Given the description of an element on the screen output the (x, y) to click on. 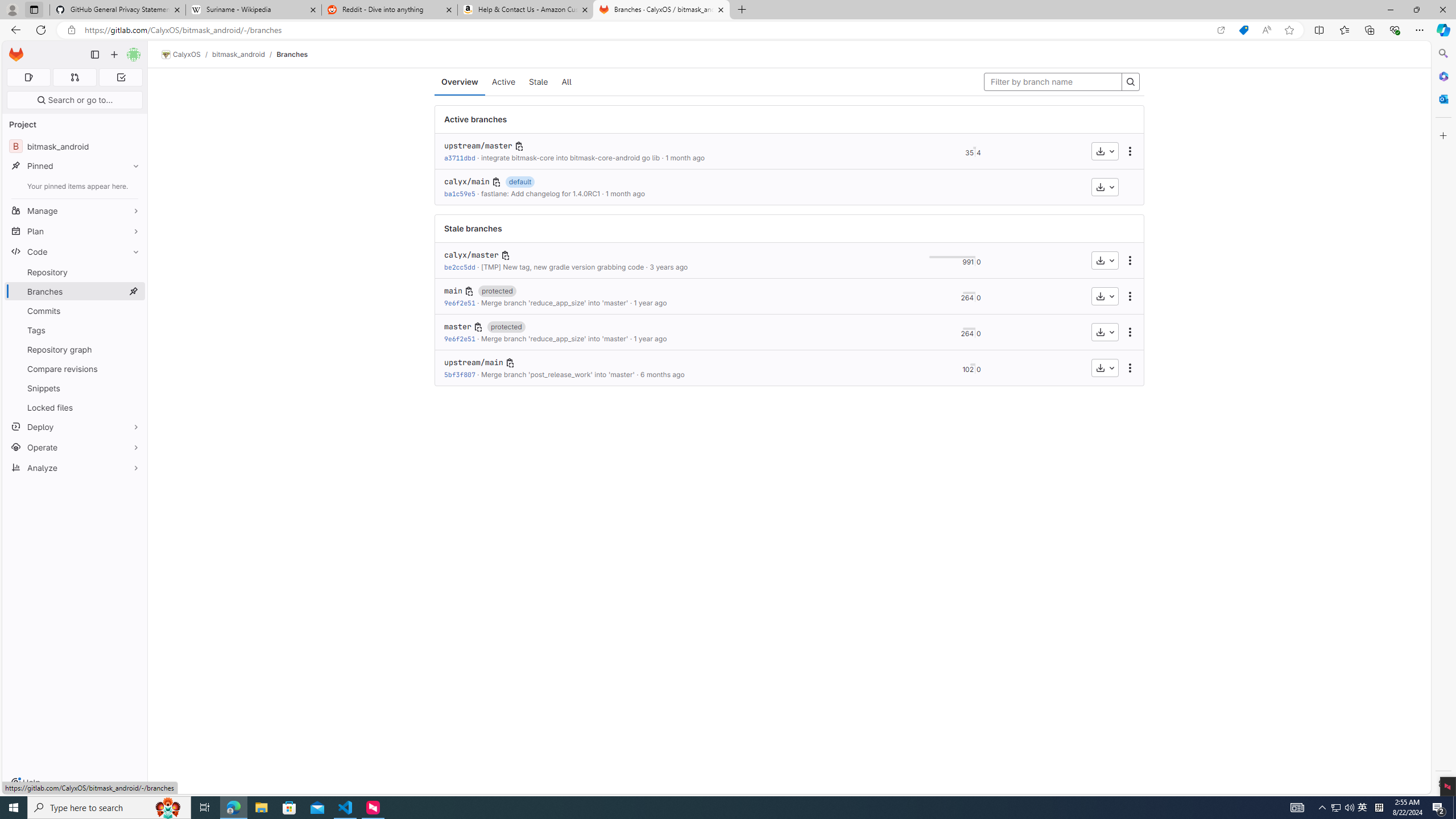
Manage (74, 210)
Analyze (74, 467)
Deploy (74, 426)
Deploy (74, 426)
Commits (74, 310)
New Tab (741, 9)
5bf3f807 (460, 374)
Snippets (74, 387)
Copy branch name (509, 362)
main (453, 290)
